Given the description of an element on the screen output the (x, y) to click on. 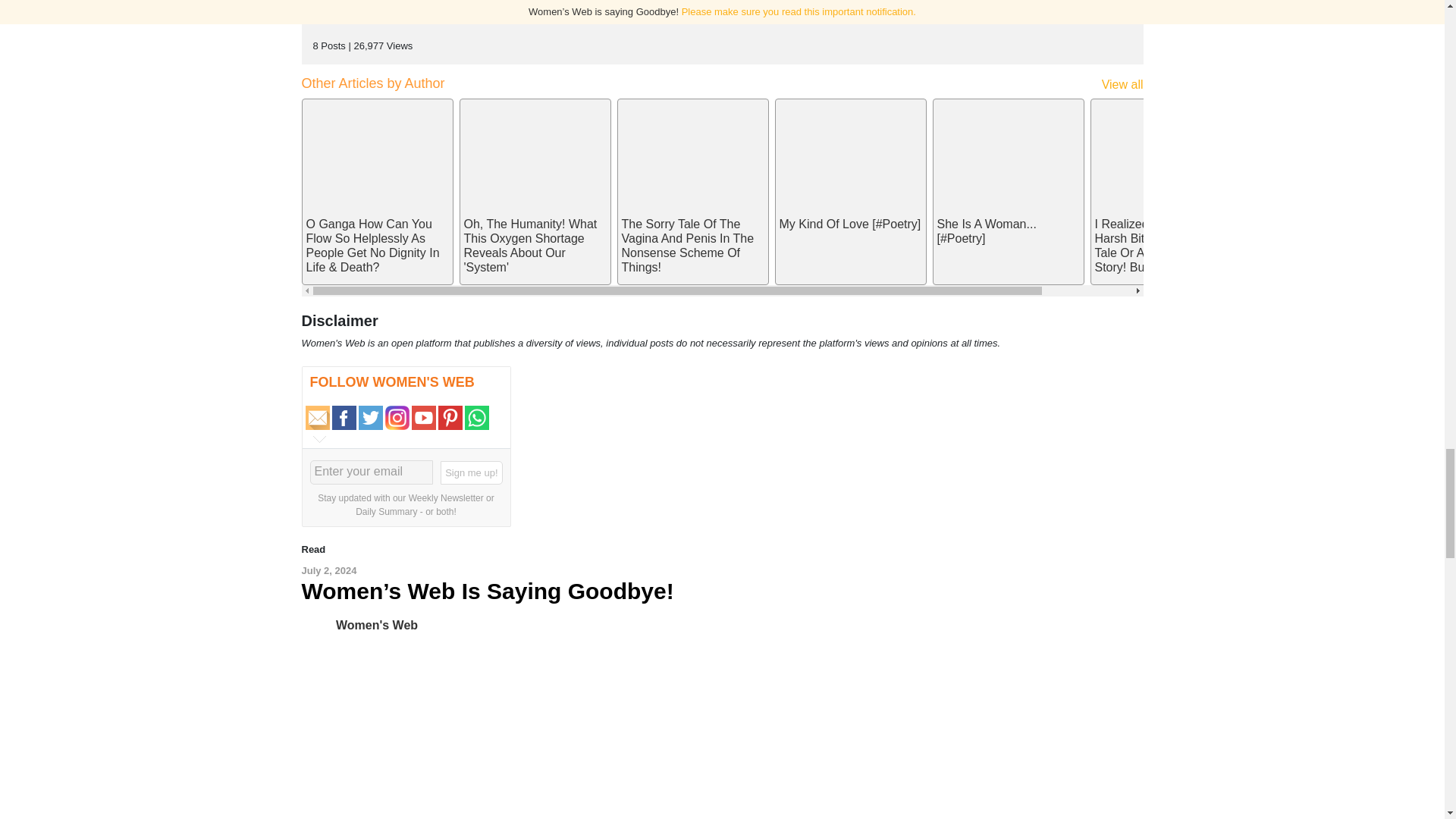
Women's Web (318, 625)
Sign me up! (471, 473)
Women's Web (376, 625)
